Given the description of an element on the screen output the (x, y) to click on. 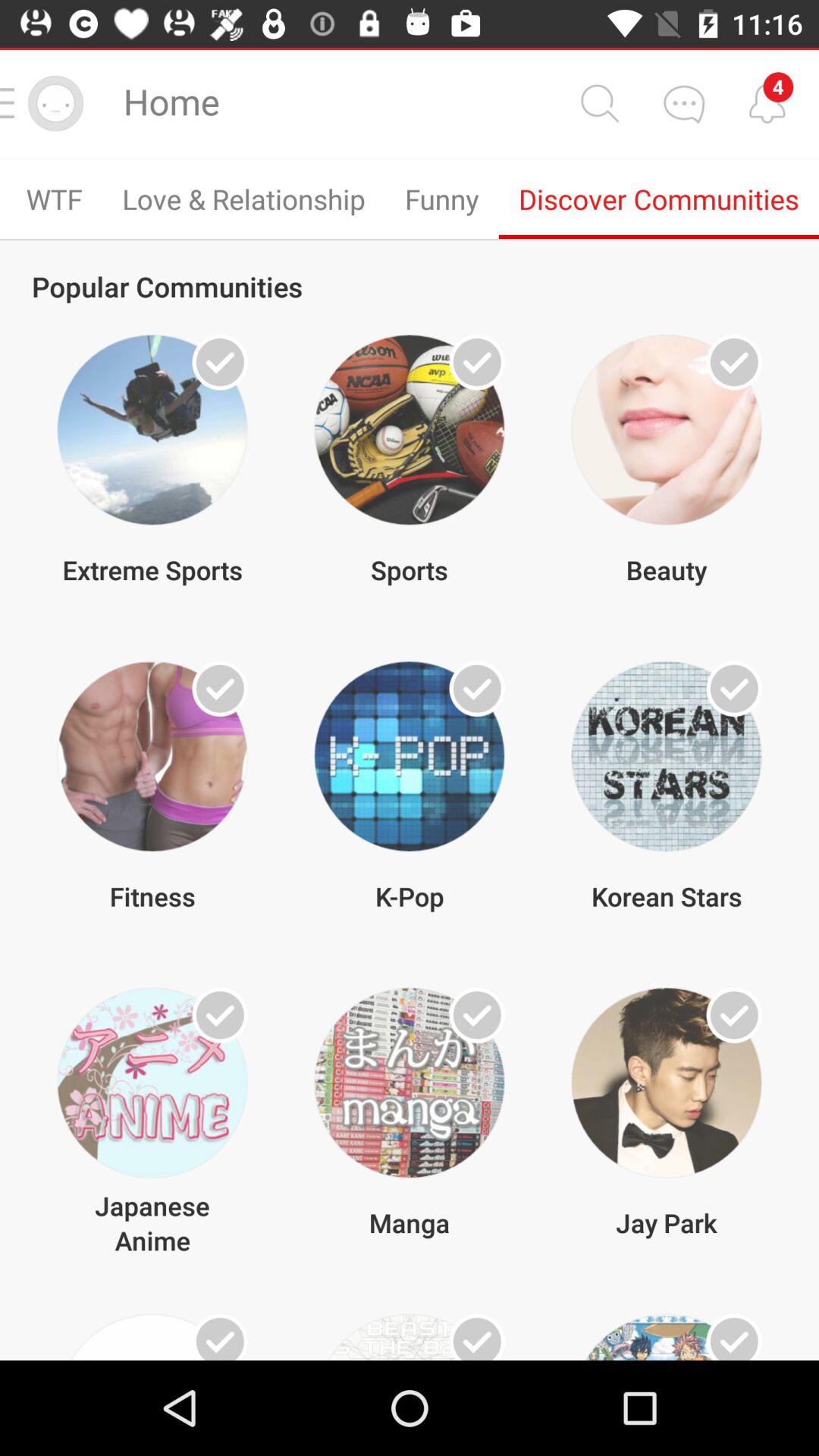
join community (734, 688)
